Given the description of an element on the screen output the (x, y) to click on. 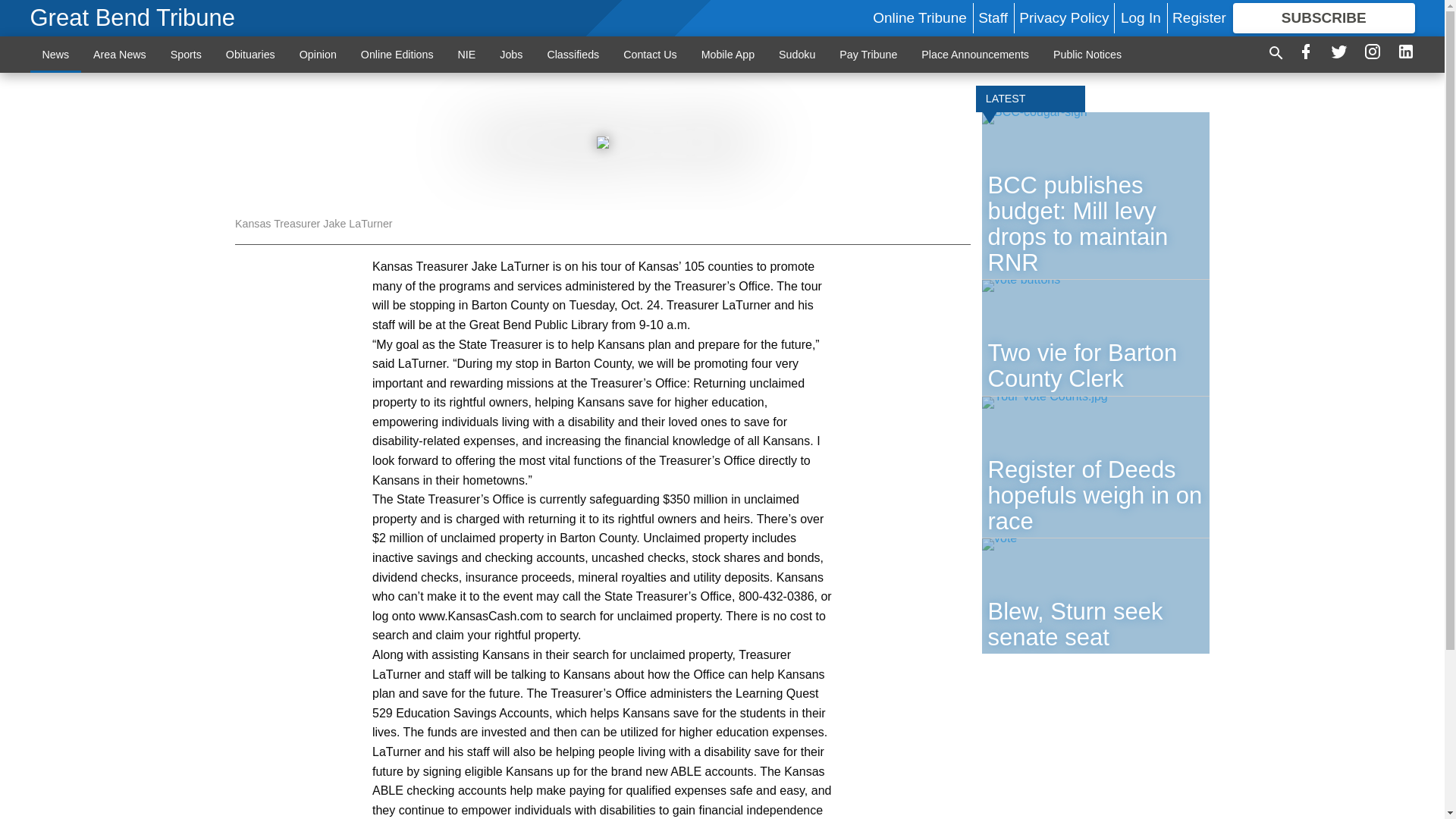
Register (1198, 17)
Great Bend Tribune (132, 17)
Log In (1140, 17)
SUBSCRIBE (1324, 18)
Staff (992, 17)
Online Tribune (919, 17)
Privacy Policy (1063, 17)
